Given the description of an element on the screen output the (x, y) to click on. 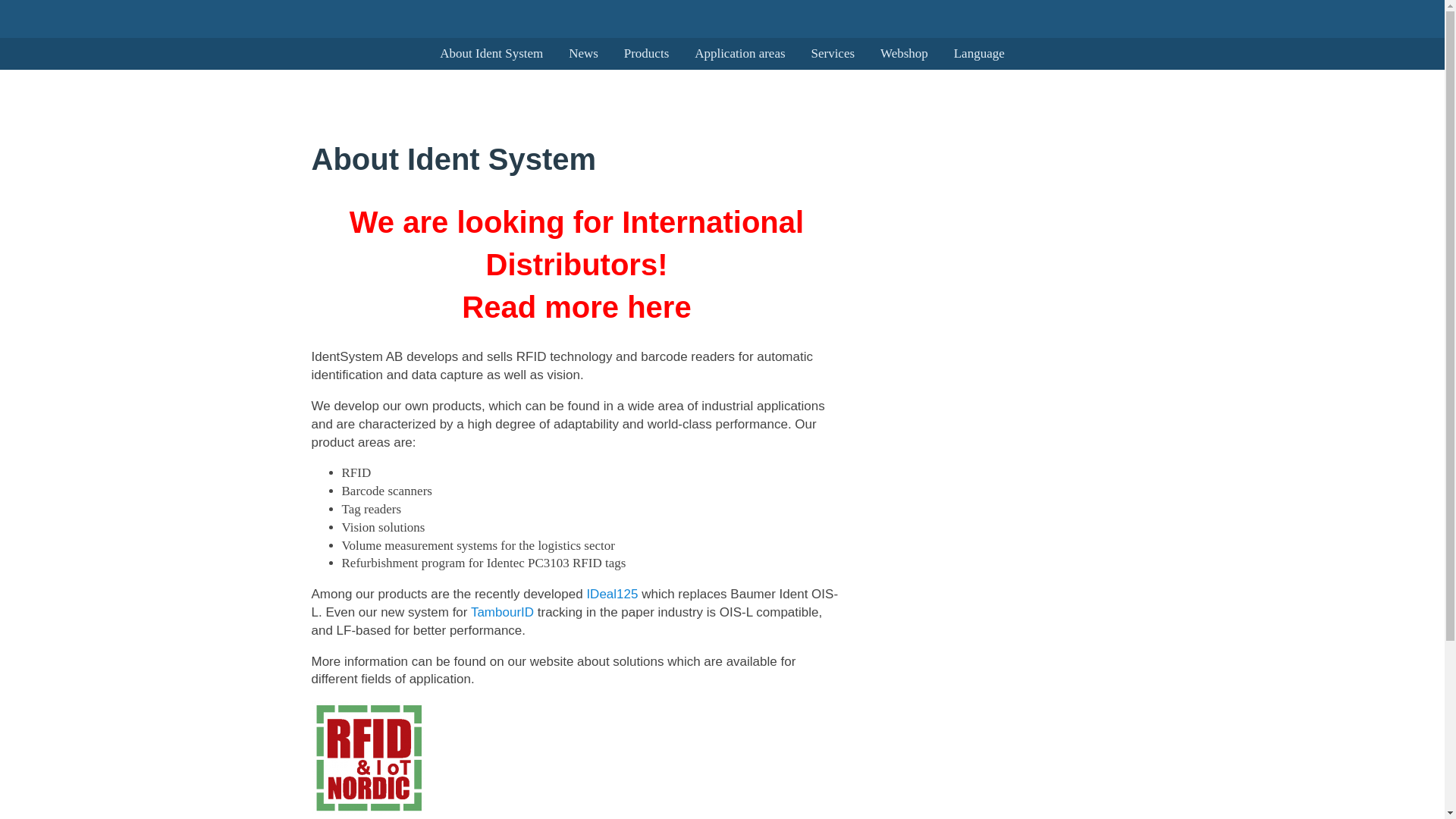
About Ident System (491, 53)
IDENTSYSTEM AB (122, 53)
Products (646, 53)
News (583, 53)
